Given the description of an element on the screen output the (x, y) to click on. 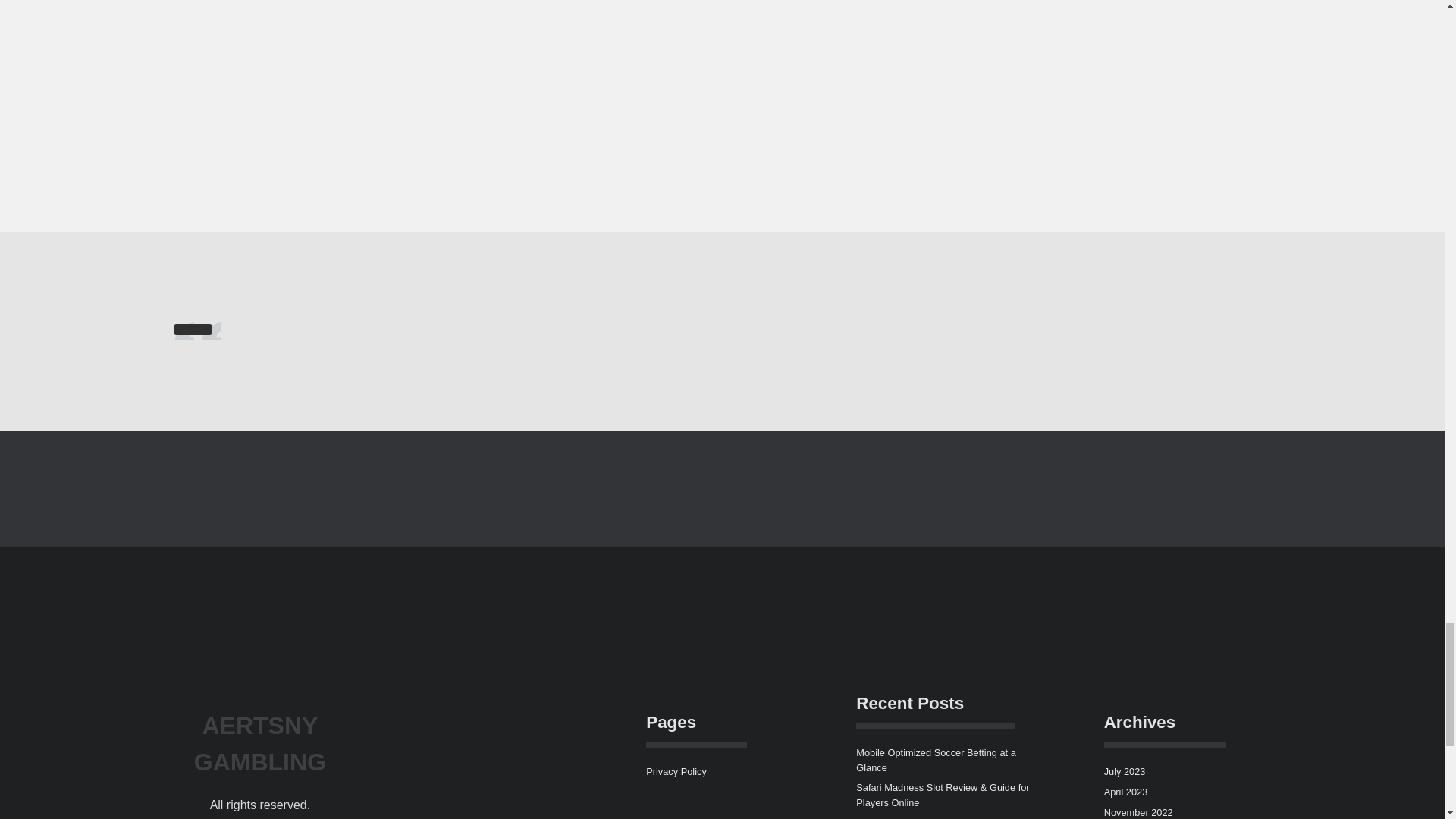
Mobile Optimized Soccer Betting at a Glance (936, 759)
July 2023 (1124, 771)
April 2023 (1125, 791)
A Guide to Playing Video Poker for iPad Casino Players (941, 817)
Privacy Policy (676, 771)
November 2022 (1138, 812)
